Given the description of an element on the screen output the (x, y) to click on. 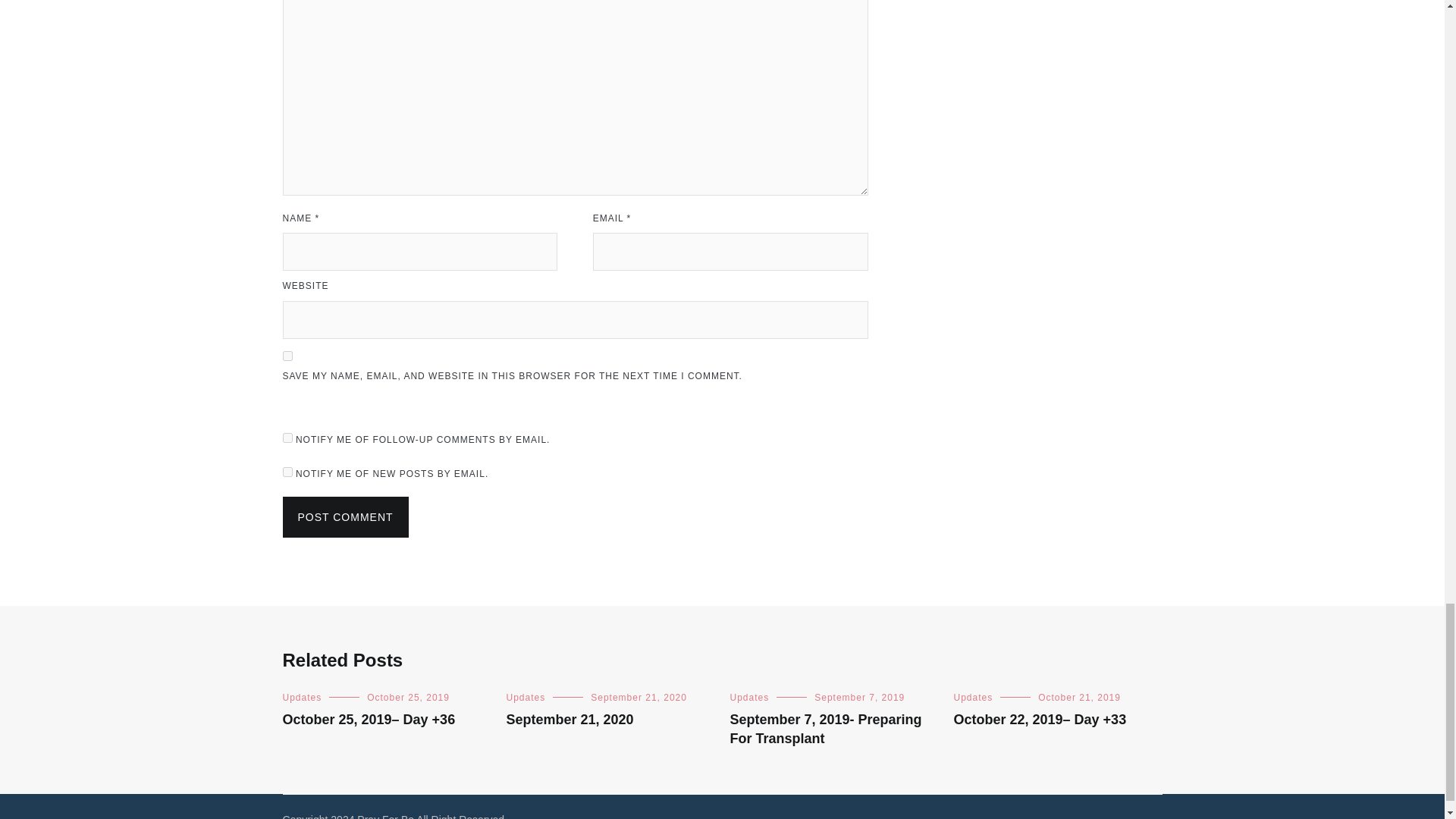
Updates (301, 697)
October 25, 2019 (407, 697)
yes (287, 356)
Updates (748, 697)
subscribe (287, 438)
Updates (526, 697)
September 21, 2020 (639, 697)
POST COMMENT (344, 516)
September 7, 2019 (858, 697)
September 7, 2019- Preparing For Transplant (825, 728)
